Given the description of an element on the screen output the (x, y) to click on. 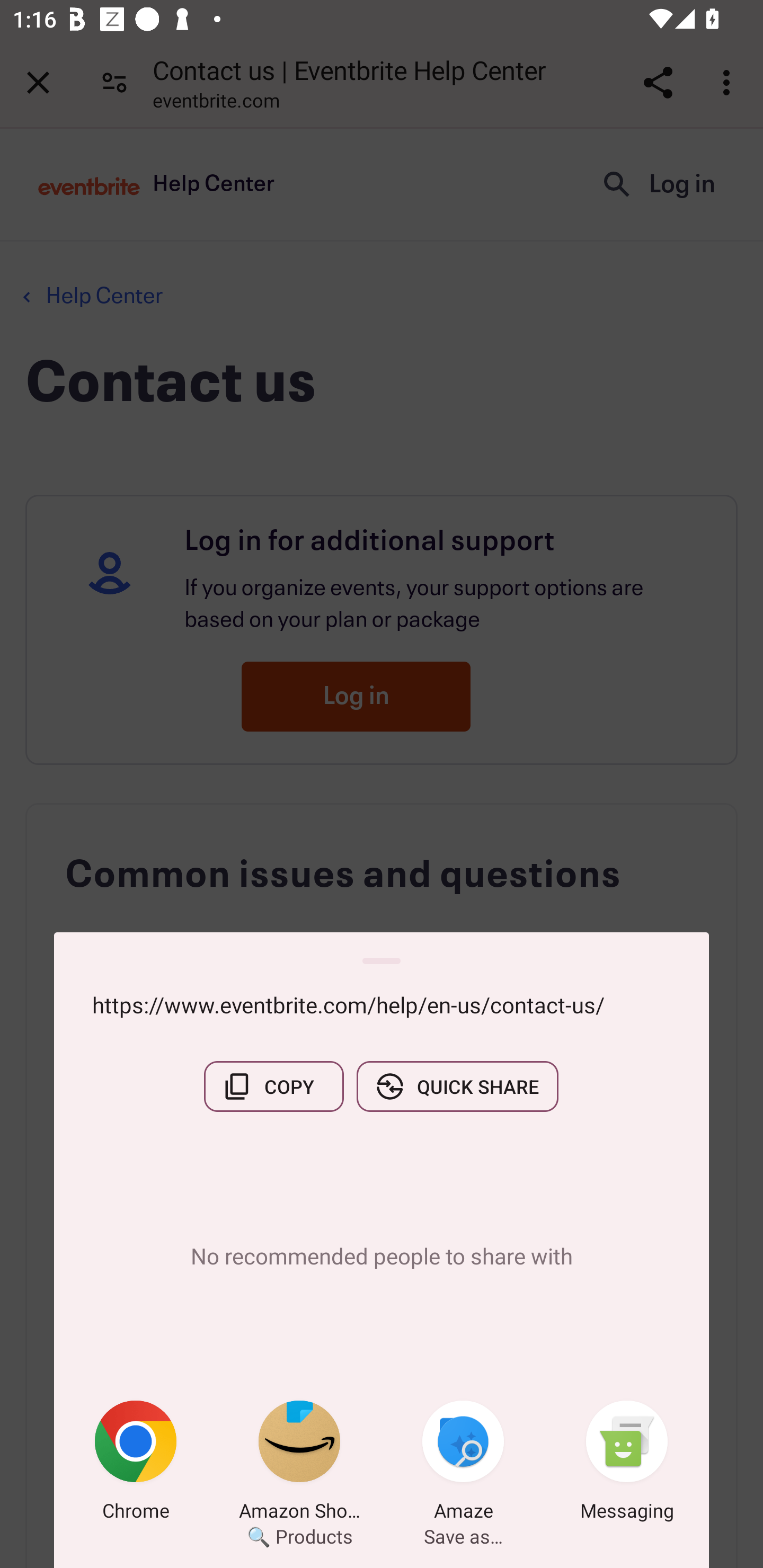
COPY (273, 1086)
QUICK SHARE (457, 1086)
Chrome (135, 1463)
Amazon Shopping 🔍 Products (299, 1463)
Amaze Save as… (463, 1463)
Messaging (626, 1463)
